Given the description of an element on the screen output the (x, y) to click on. 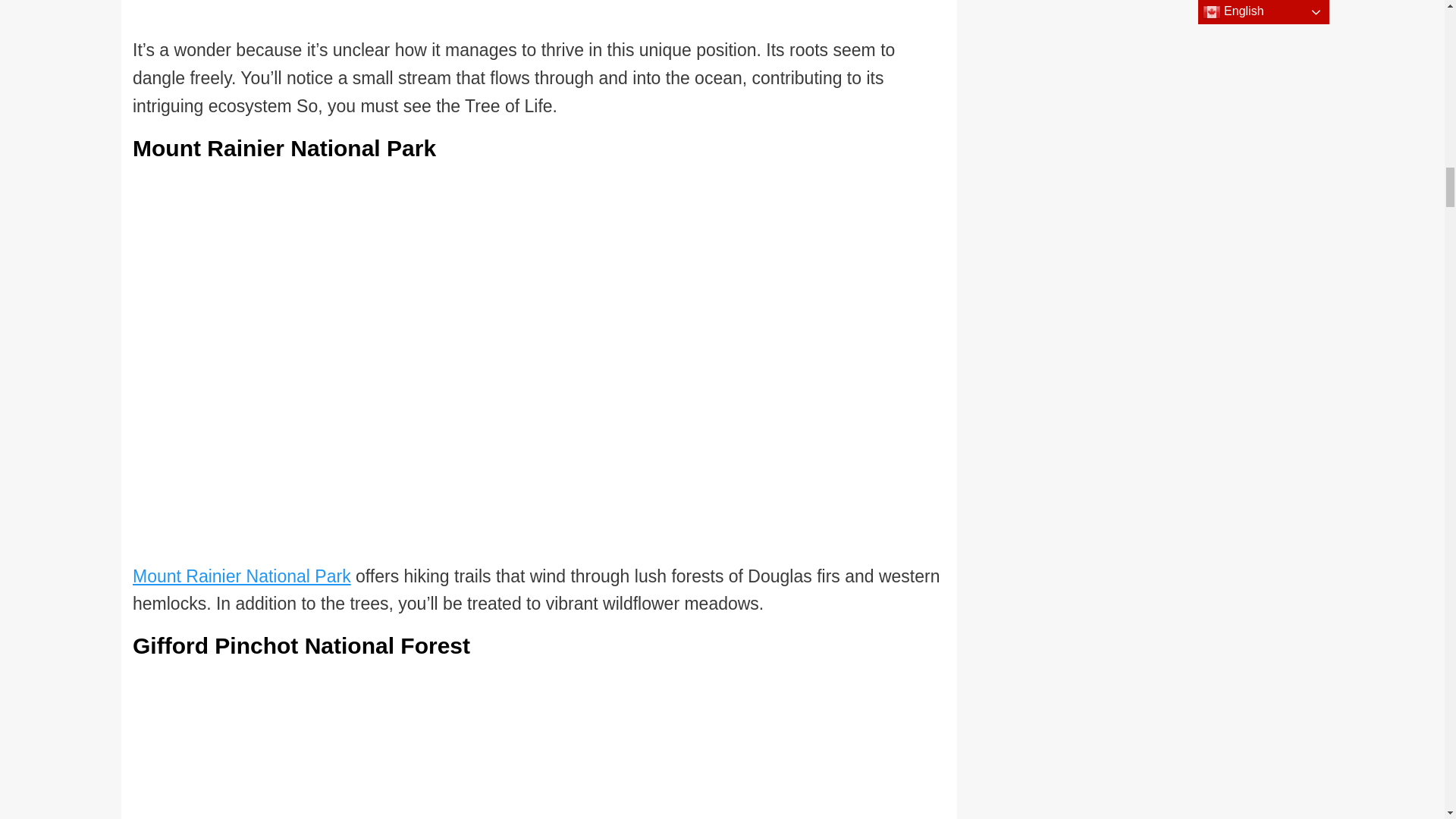
Trees in Washington State: Learn How To Identify 4 (501, 18)
Mount Rainier National Park (241, 576)
Trees in Washington State: Learn How To Identify 6 (520, 742)
